Given the description of an element on the screen output the (x, y) to click on. 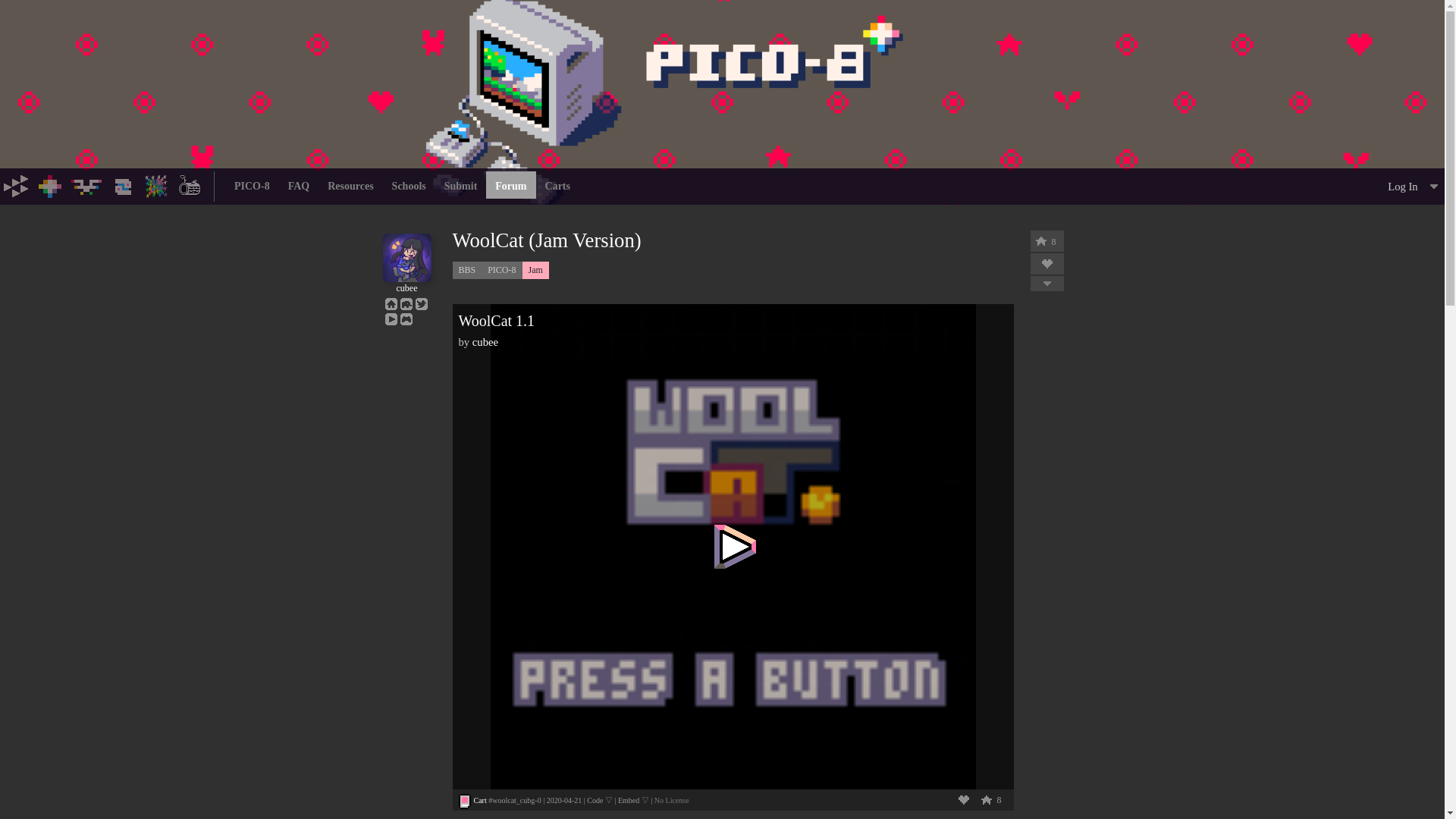
Add to your favourites collection (963, 799)
Voxatron (86, 184)
Superblog (189, 184)
2020-04-21 10:30:59 (564, 800)
BBS (156, 184)
Give this post a star (985, 799)
Open Cartridge File (479, 800)
Lexaloffle Games (16, 184)
PICO-8 (49, 184)
cubee (405, 282)
Give this post a star (1040, 240)
Add to your favourites collection (1046, 263)
Picotron (122, 184)
